Given the description of an element on the screen output the (x, y) to click on. 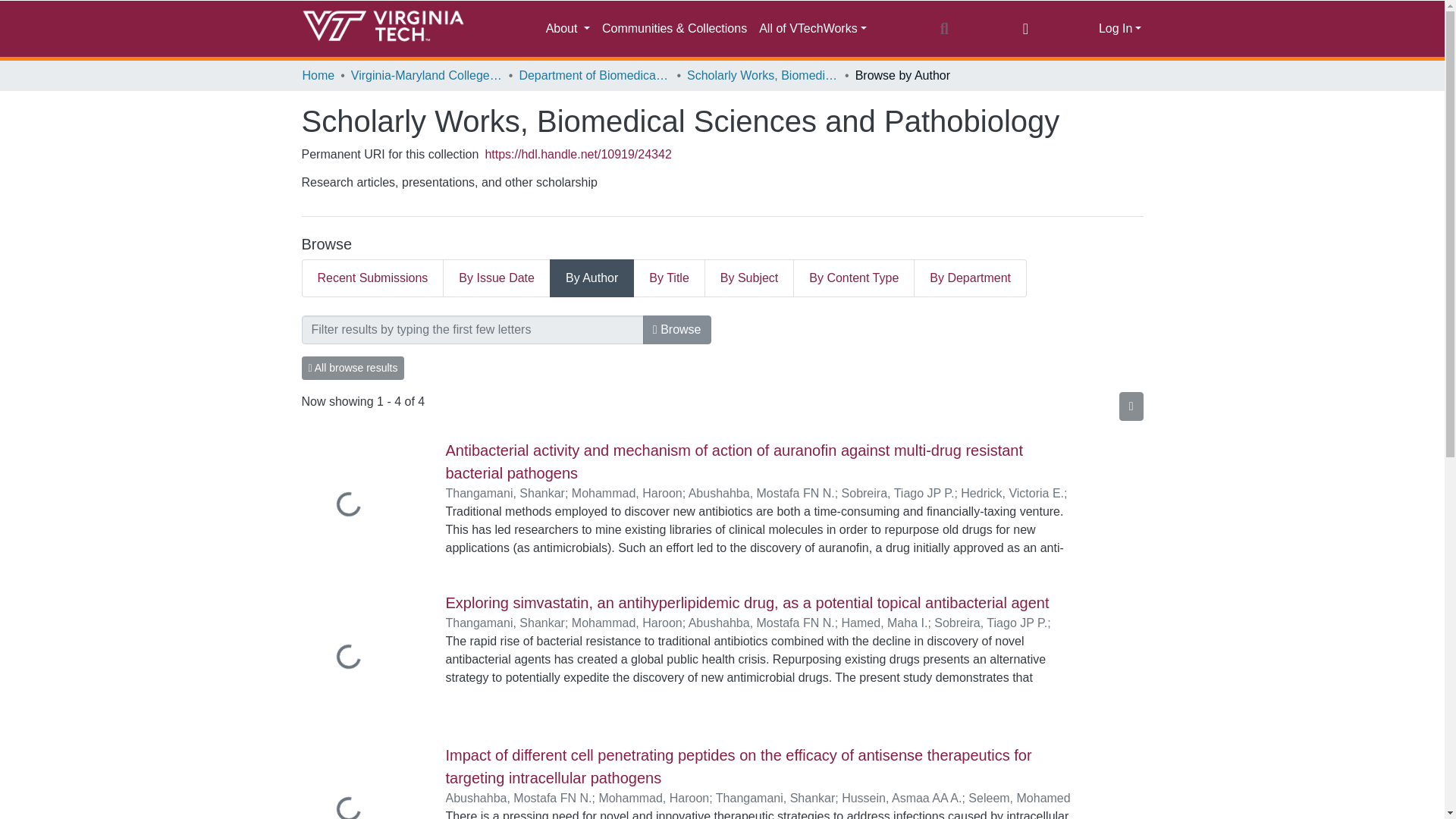
By Department (970, 278)
Search (943, 28)
By Content Type (853, 278)
Log In (1119, 28)
Browse (677, 329)
Language switch (1025, 28)
By Title (668, 278)
Department of Biomedical Sciences and Pathobiology (593, 75)
About (567, 28)
By Issue Date (497, 278)
